Given the description of an element on the screen output the (x, y) to click on. 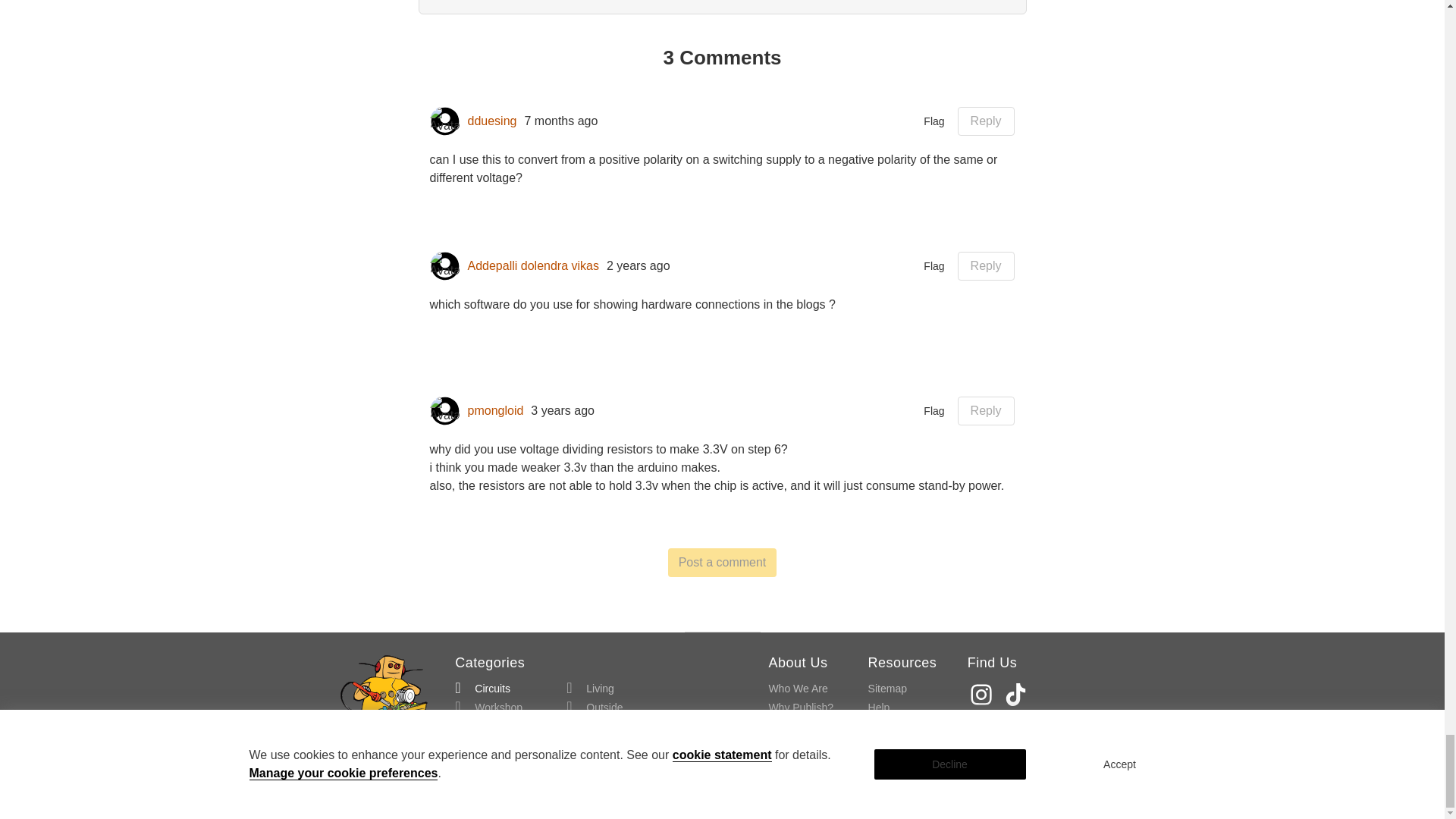
2021-05-23 19:40:58.0 (562, 410)
2024-01-23 10:00:49.0 (560, 120)
2022-04-11 11:16:18.0 (638, 265)
Instagram (983, 694)
TikTok (1018, 694)
